Given the description of an element on the screen output the (x, y) to click on. 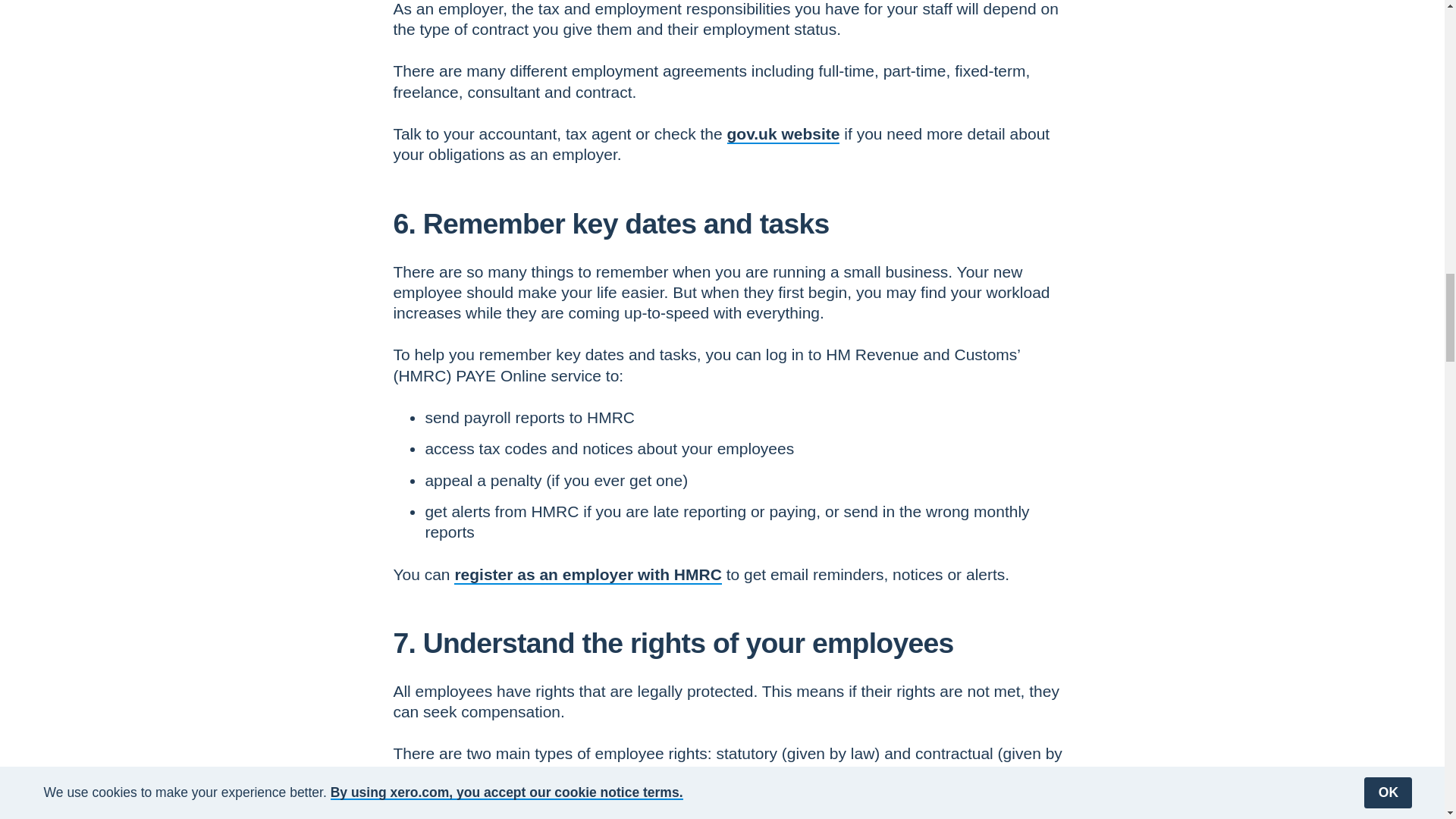
register as an employer with HMRC (587, 574)
gov.uk website (783, 133)
